Given the description of an element on the screen output the (x, y) to click on. 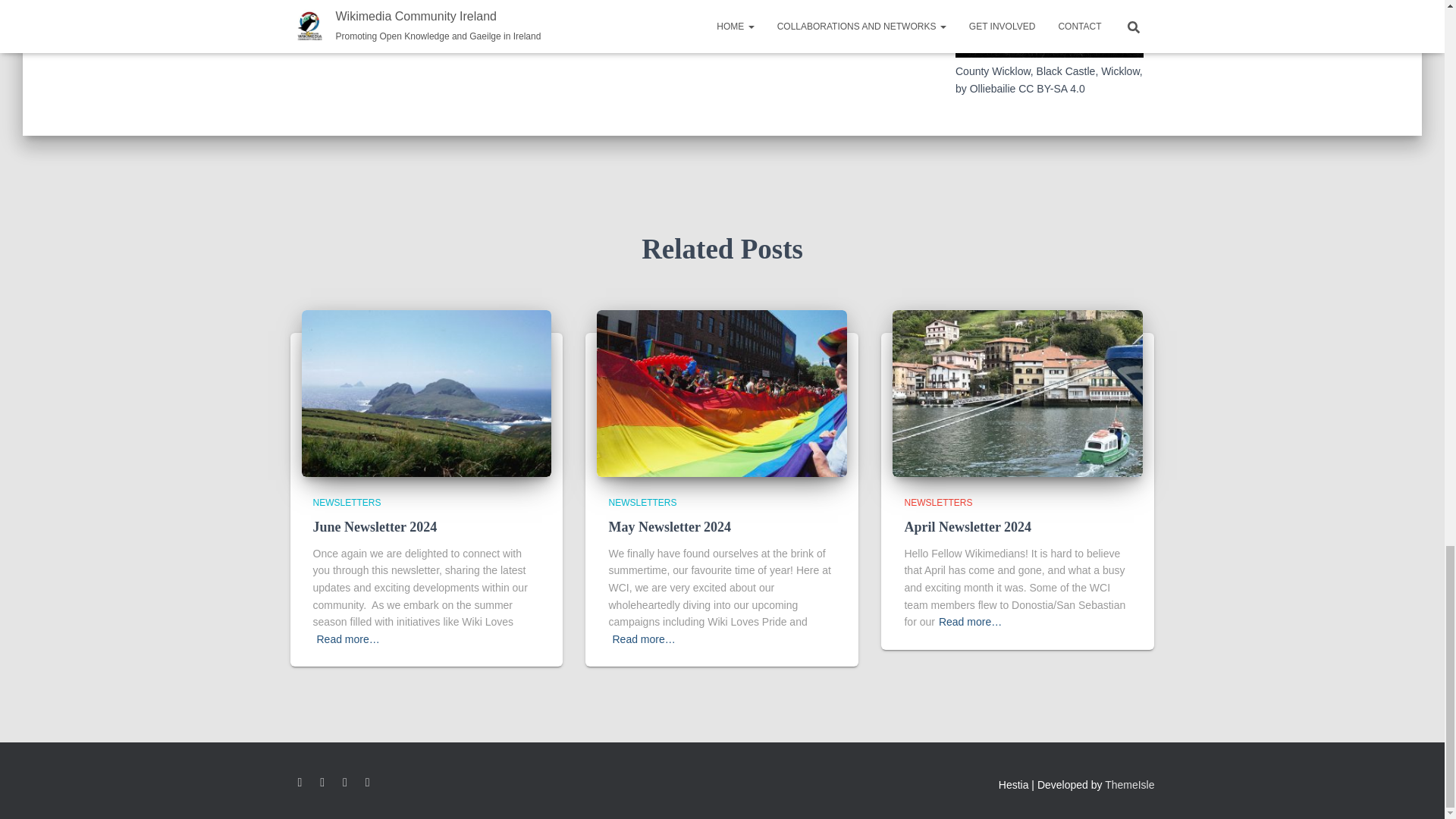
June Newsletter 2024 (426, 392)
April Newsletter 2024 (1017, 392)
NEWSLETTERS (642, 502)
May Newsletter 2024 (721, 392)
View all posts in Newsletters (642, 502)
June Newsletter 2024 (374, 526)
May Newsletter 2024 (669, 526)
June Newsletter 2024 (374, 526)
May Newsletter 2024 (669, 526)
April Newsletter 2024 (967, 526)
NEWSLETTERS (346, 502)
View all posts in Newsletters (938, 502)
View all posts in Newsletters (346, 502)
